Given the description of an element on the screen output the (x, y) to click on. 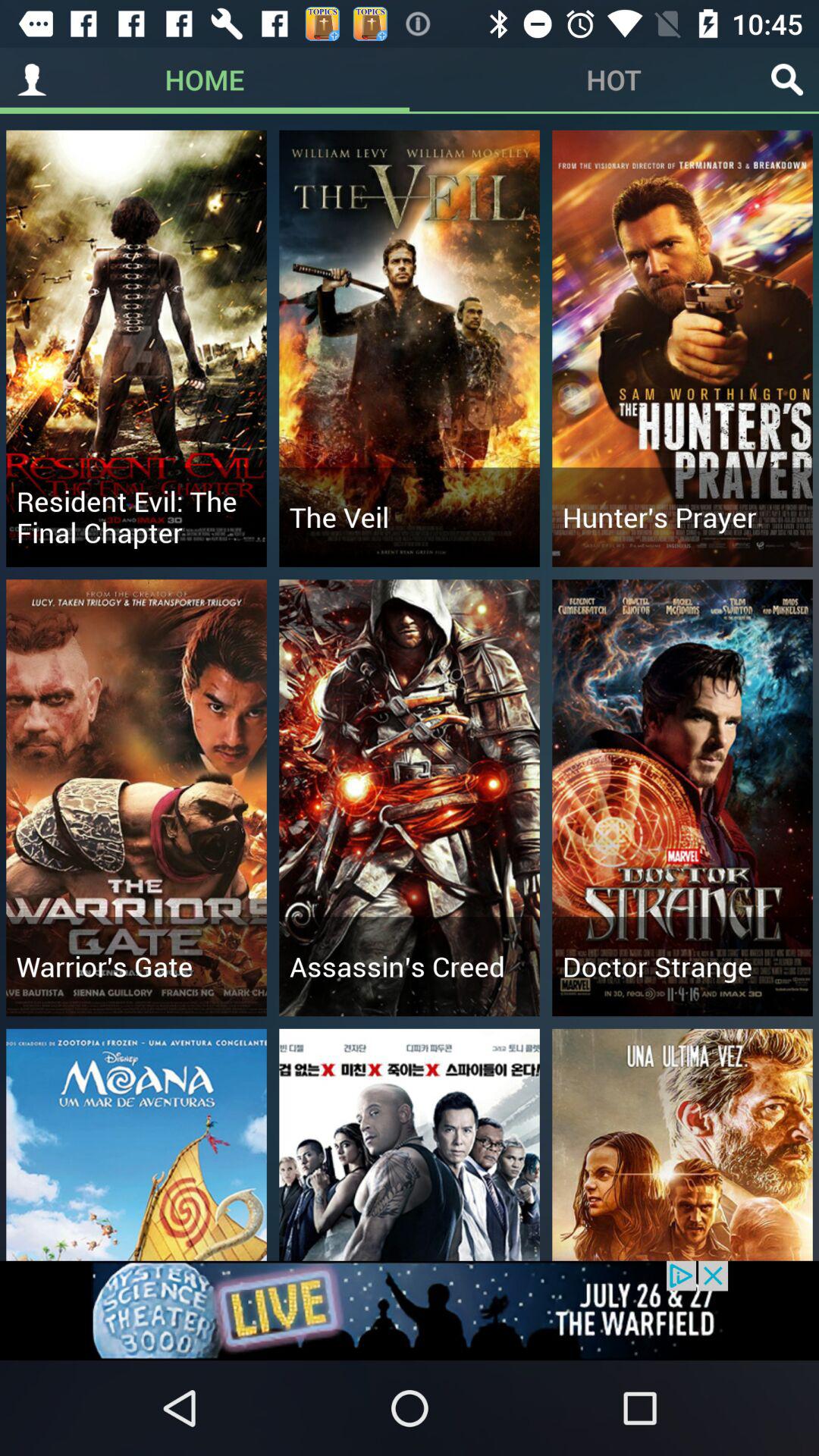
profile (31, 79)
